Given the description of an element on the screen output the (x, y) to click on. 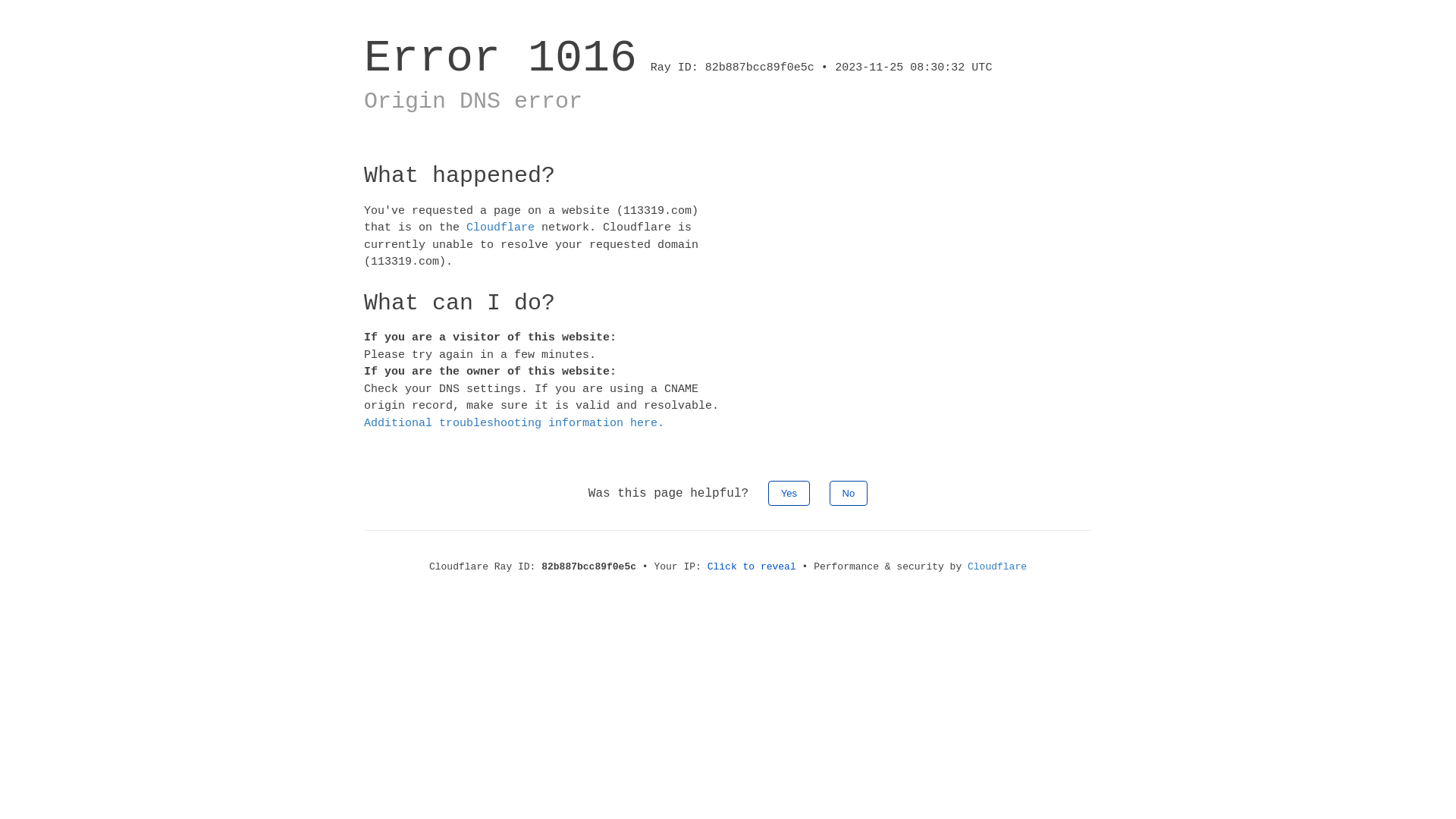
Cloudflare Element type: text (996, 566)
Click to reveal Element type: text (751, 566)
Cloudflare Element type: text (500, 227)
No Element type: text (848, 492)
Yes Element type: text (788, 492)
Additional troubleshooting information here. Element type: text (514, 423)
